Given the description of an element on the screen output the (x, y) to click on. 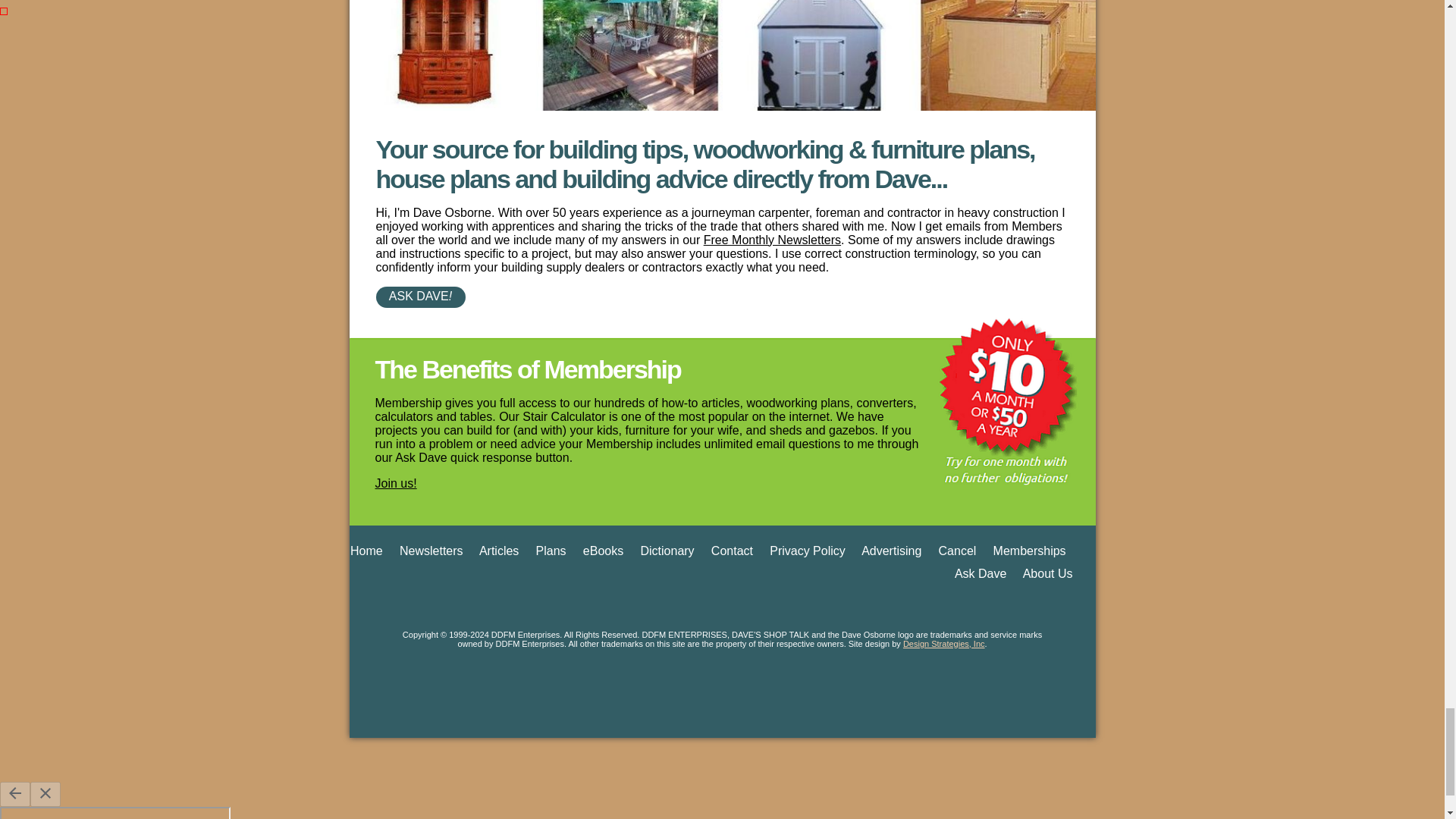
Plans (550, 550)
ASK DAVE! (721, 296)
Newsletters (430, 550)
Home (366, 550)
eBooks (603, 550)
Free Monthly Newsletters (772, 239)
Articles (498, 550)
